Given the description of an element on the screen output the (x, y) to click on. 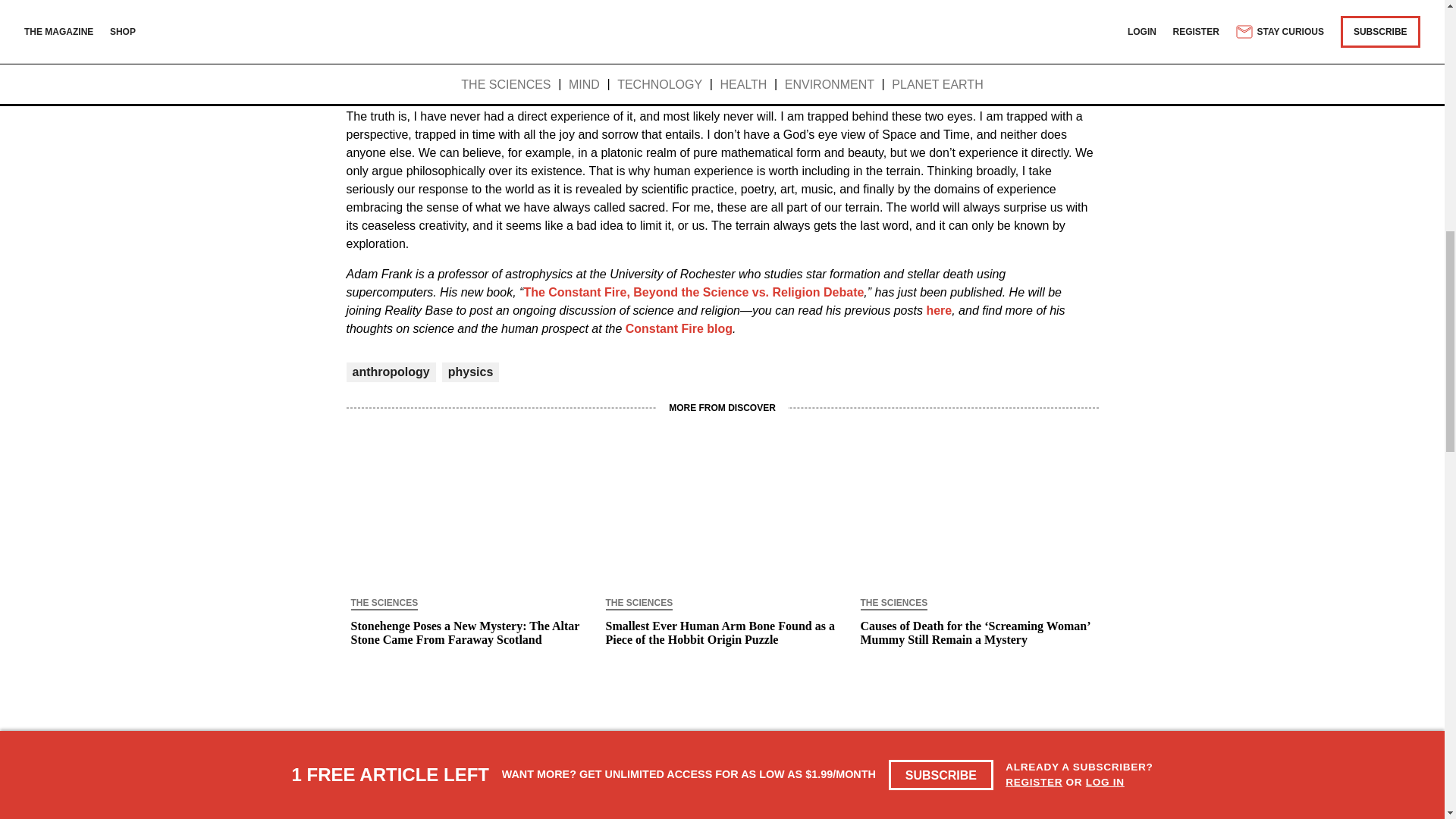
anthropology (390, 371)
here at the University of Rochester (713, 15)
Constant Fire blog (679, 328)
here (939, 309)
physics (470, 371)
It from Bit (560, 6)
The Constant Fire, Beyond the Science vs. Religion Debate (692, 291)
Christopher Fuchs (797, 6)
